Given the description of an element on the screen output the (x, y) to click on. 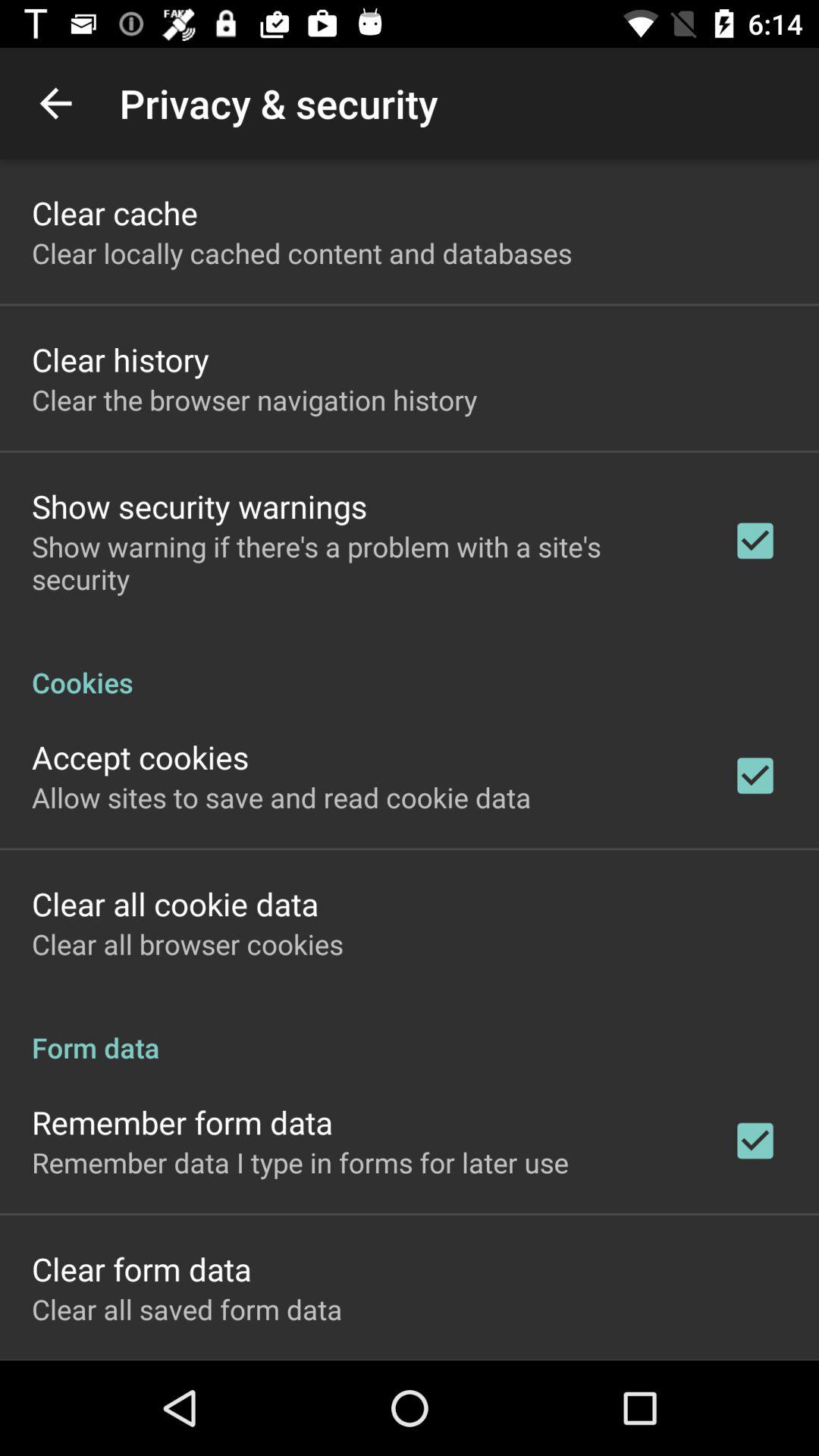
open clear locally cached (301, 252)
